Given the description of an element on the screen output the (x, y) to click on. 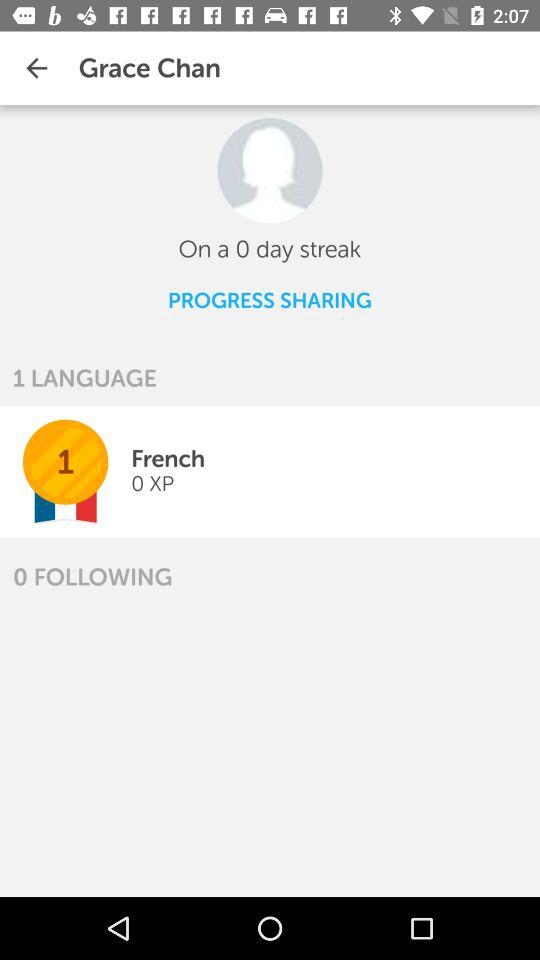
select item below progress sharing (84, 378)
